Given the description of an element on the screen output the (x, y) to click on. 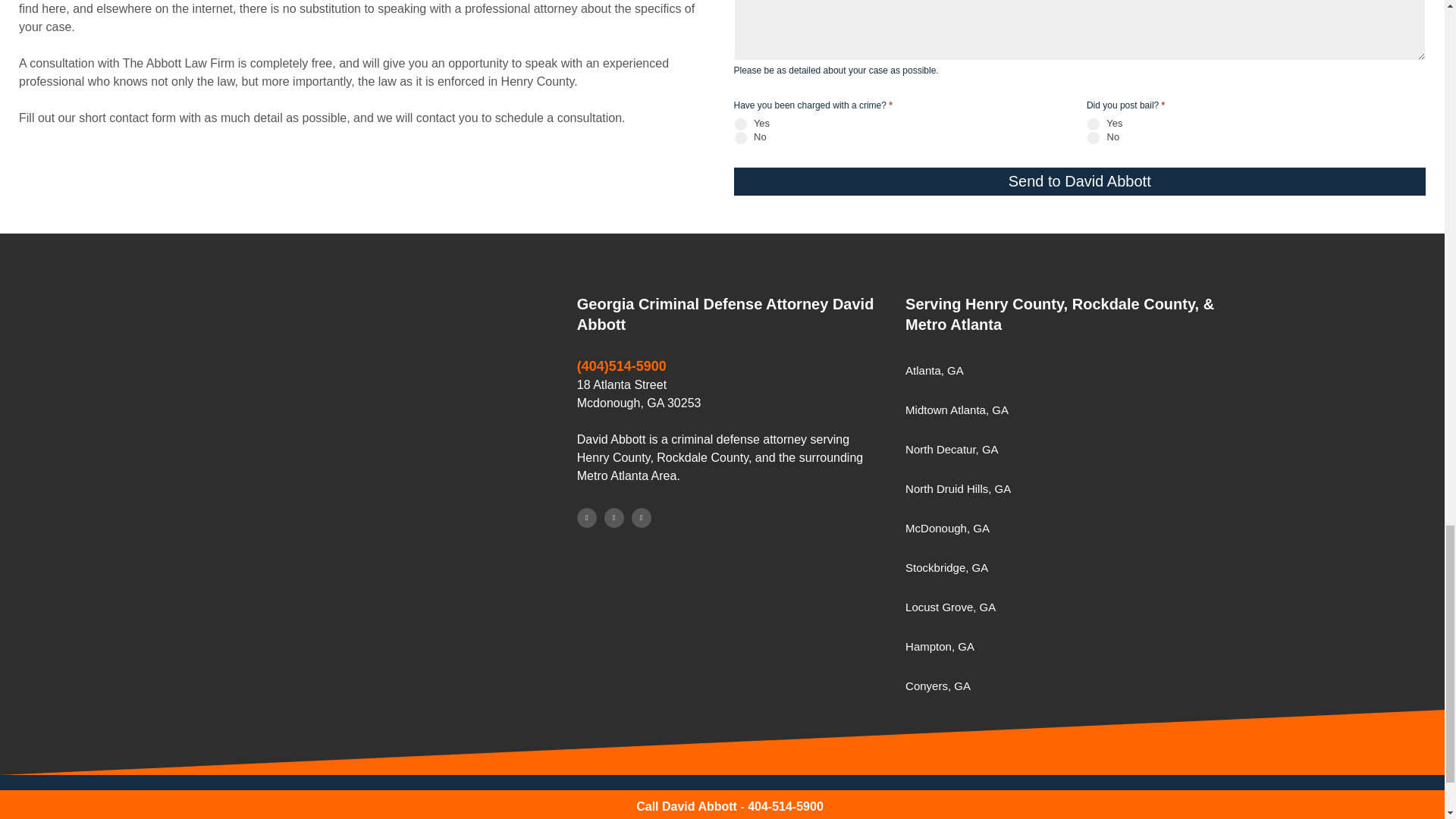
Yes (1093, 123)
No (1093, 137)
Yes (740, 123)
No (740, 137)
